Given the description of an element on the screen output the (x, y) to click on. 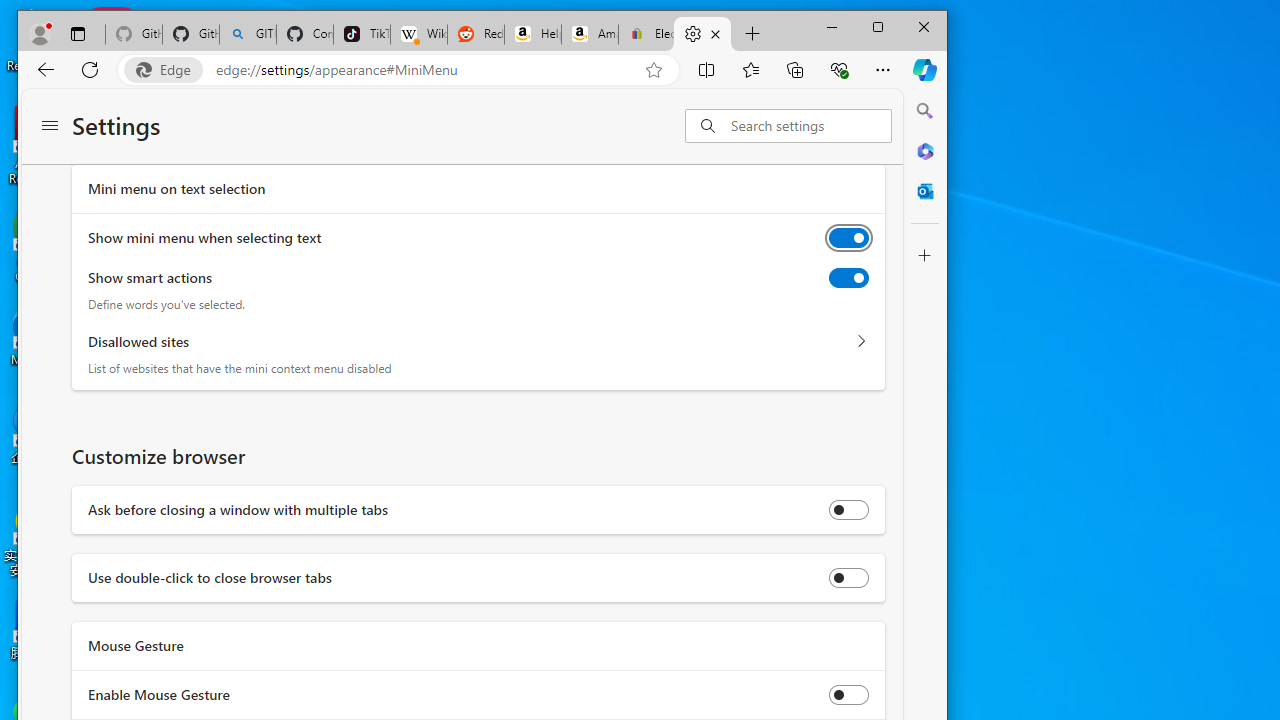
Show mini menu when selecting text (849, 237)
Show smart actions (849, 277)
Disallowed sites (861, 342)
Help & Contact Us - Amazon Customer Service (532, 34)
Maximize (878, 26)
Use double-click to close browser tabs (849, 578)
